Given the description of an element on the screen output the (x, y) to click on. 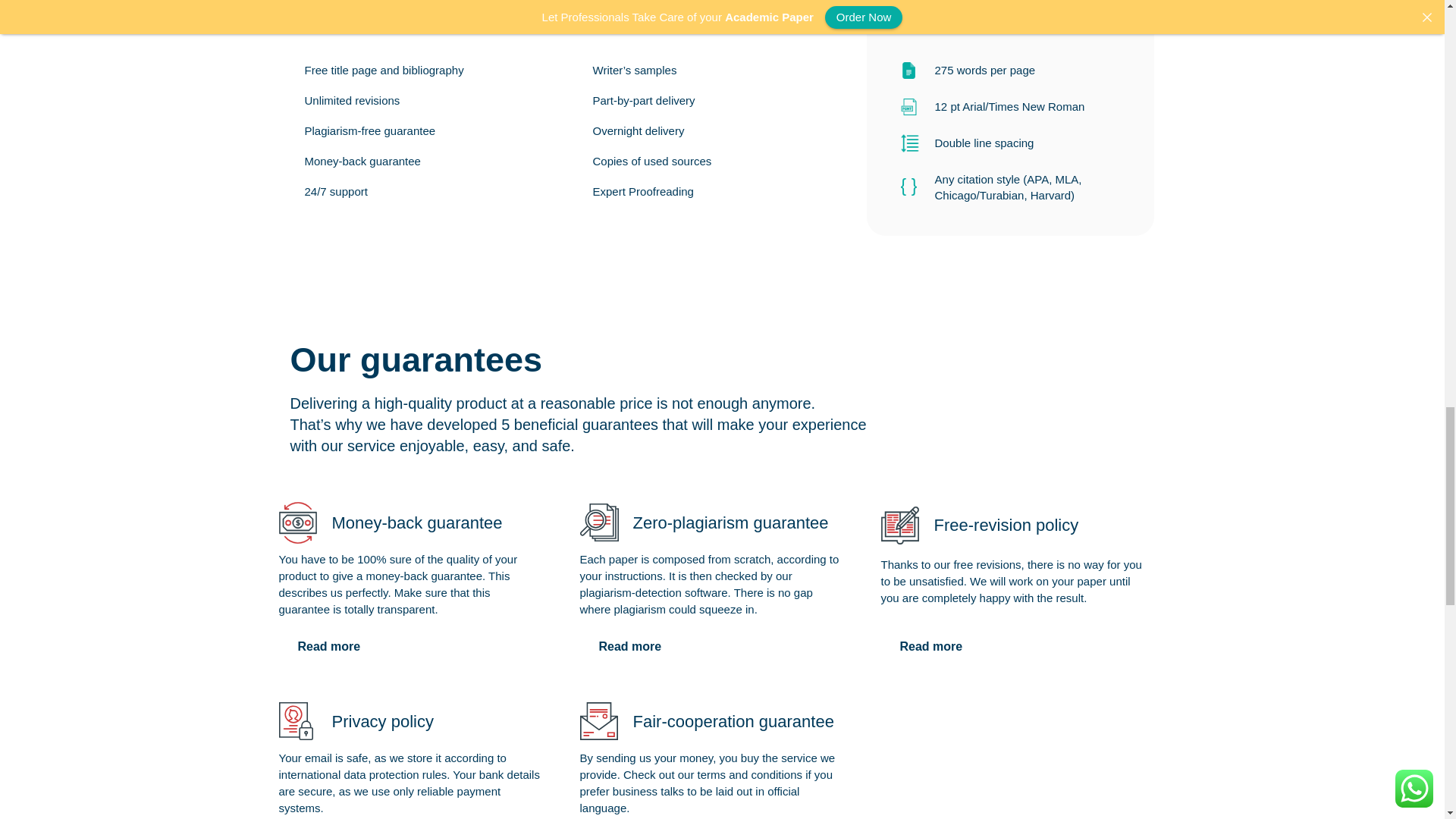
Read more (629, 646)
Read more (930, 646)
Read more (329, 646)
